Given the description of an element on the screen output the (x, y) to click on. 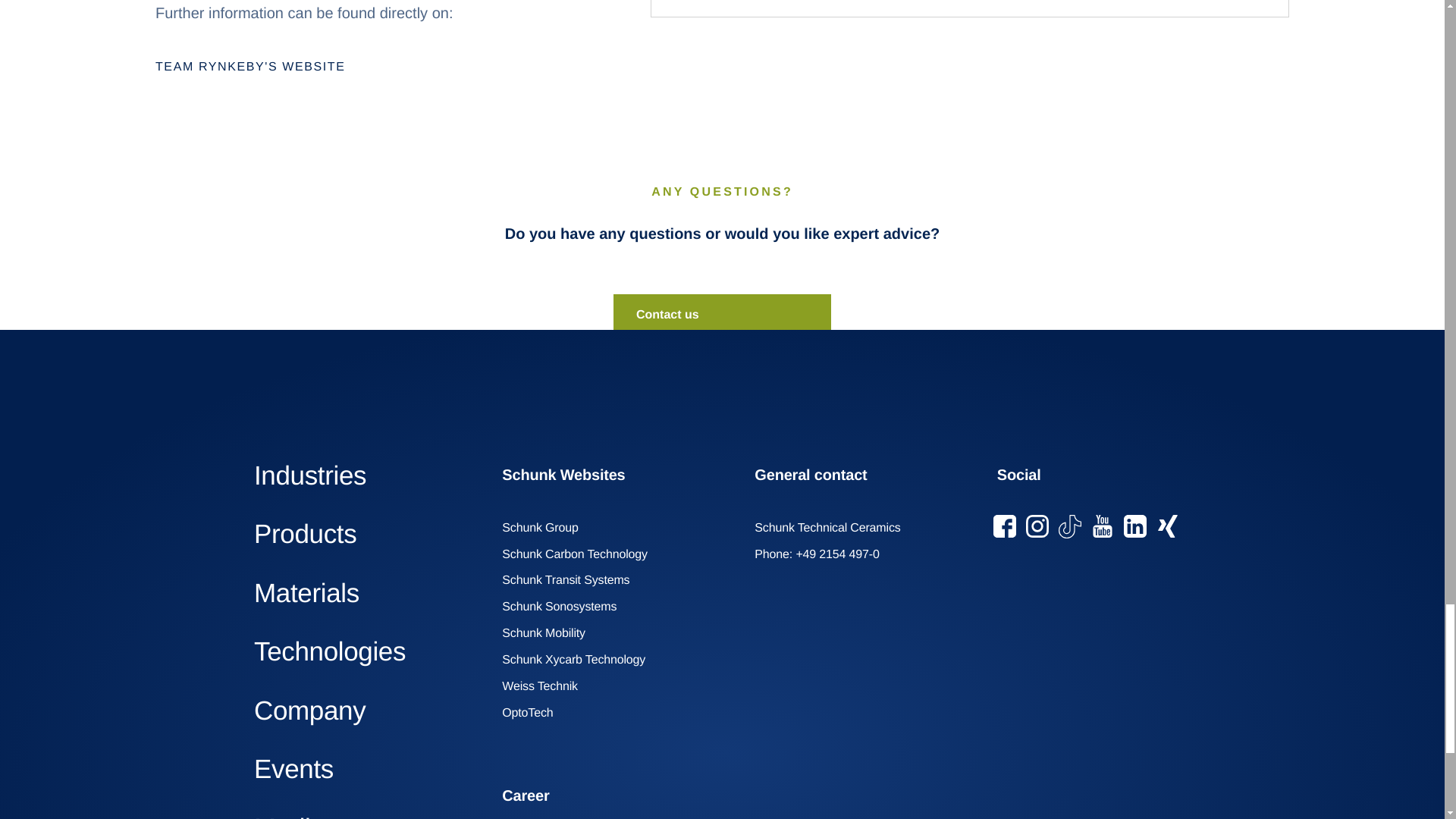
Technologies (366, 651)
Schunk Carbon Technology (580, 554)
Media (366, 815)
Company (366, 710)
Technologies (366, 651)
Schunk Carbon Technology (580, 554)
Schunk Xycarb Technology (579, 660)
Media (366, 815)
OptoTech (533, 713)
Industries (366, 475)
TEAM RYNKEBY'S WEBSITE (385, 67)
Products (366, 534)
Weiss Technik (545, 686)
Schunk Mobility (548, 633)
Materials (366, 593)
